Given the description of an element on the screen output the (x, y) to click on. 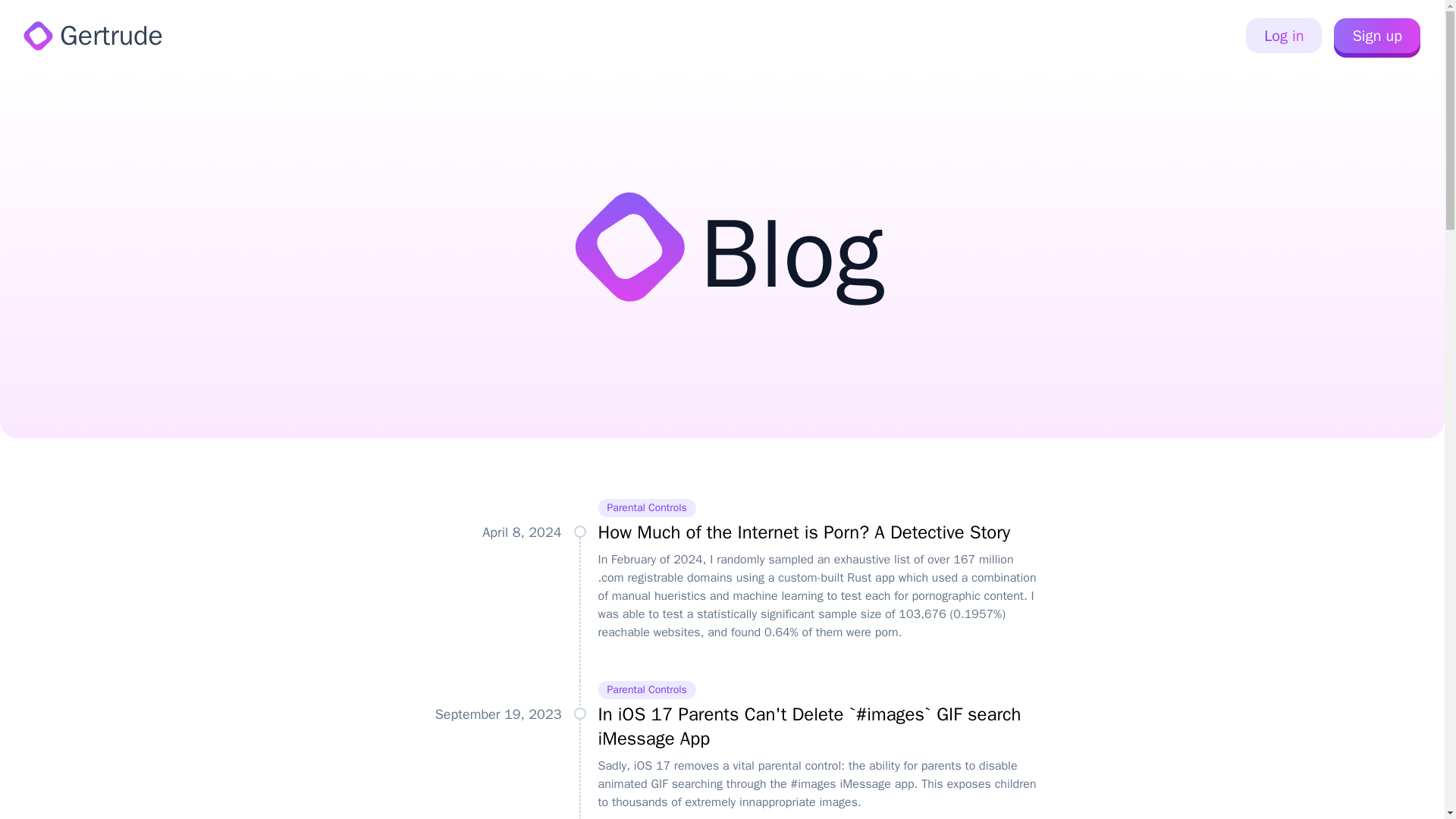
Log in (1284, 35)
Sign up (1377, 35)
Gertrude (93, 35)
